Given the description of an element on the screen output the (x, y) to click on. 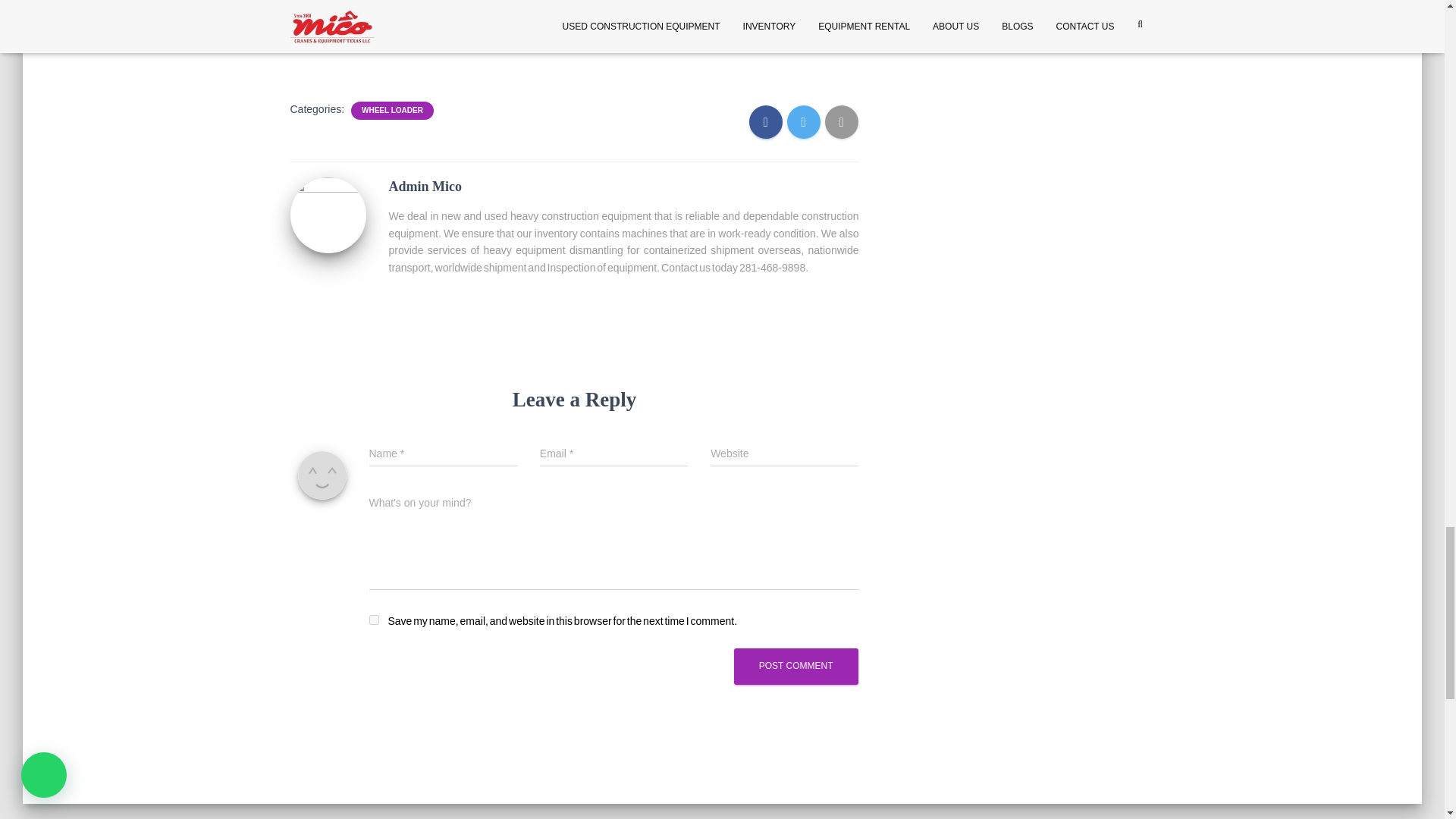
Post Comment (796, 665)
Post Comment (796, 665)
yes (373, 619)
Admin Mico (327, 214)
construction equipment for sale (652, 3)
WHEEL LOADER (392, 110)
